Given the description of an element on the screen output the (x, y) to click on. 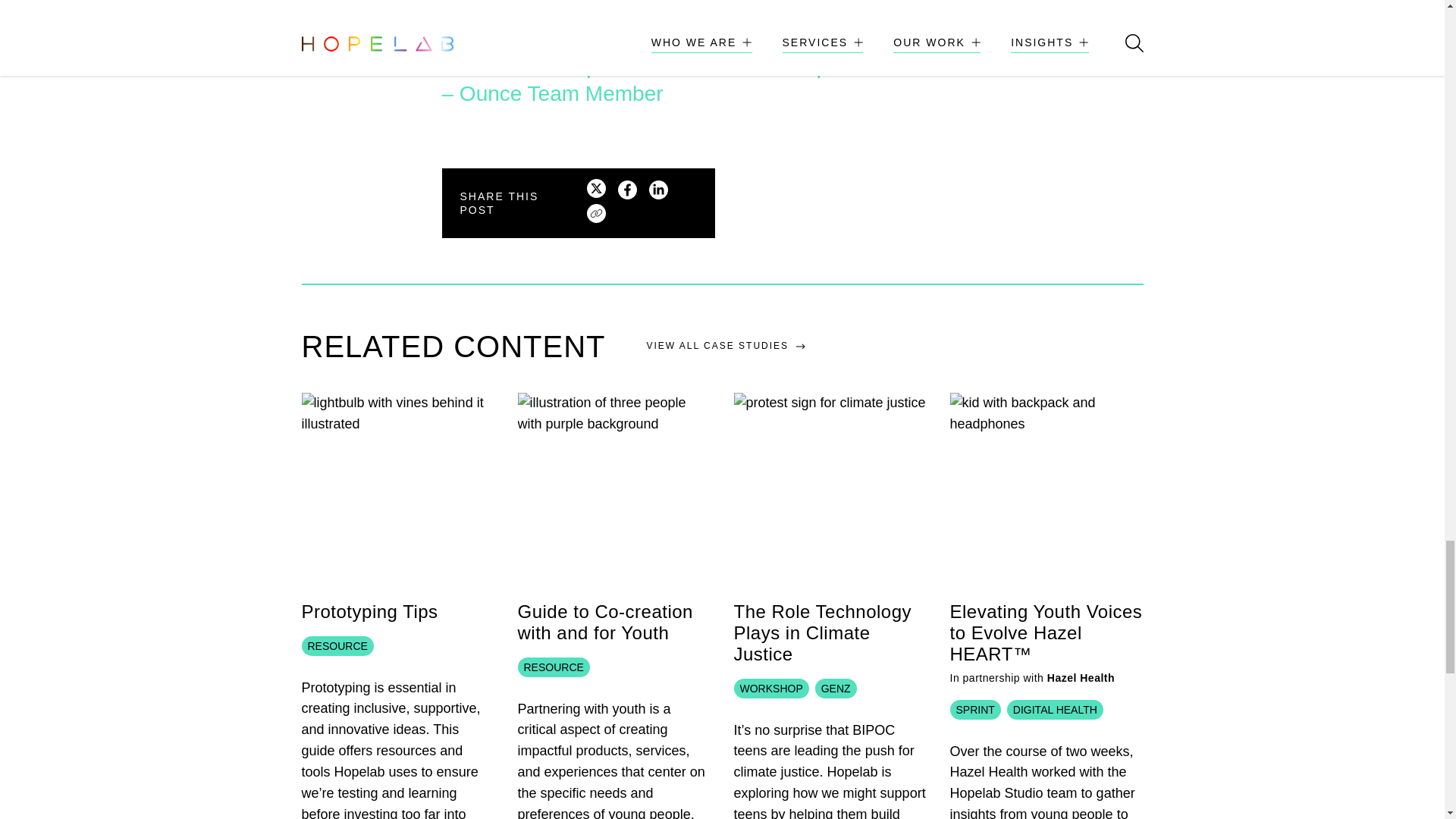
Prototyping Tips (369, 611)
SPRINT (977, 729)
DIGITAL HEALTH (1058, 729)
Hazel Health (1080, 677)
Guide to Co-creation with and for Youth (604, 621)
RESOURCE (555, 687)
VIEW ALL CASE STUDIES (725, 345)
RESOURCE (340, 666)
GENZ (839, 708)
WORKSHOP (774, 708)
